Given the description of an element on the screen output the (x, y) to click on. 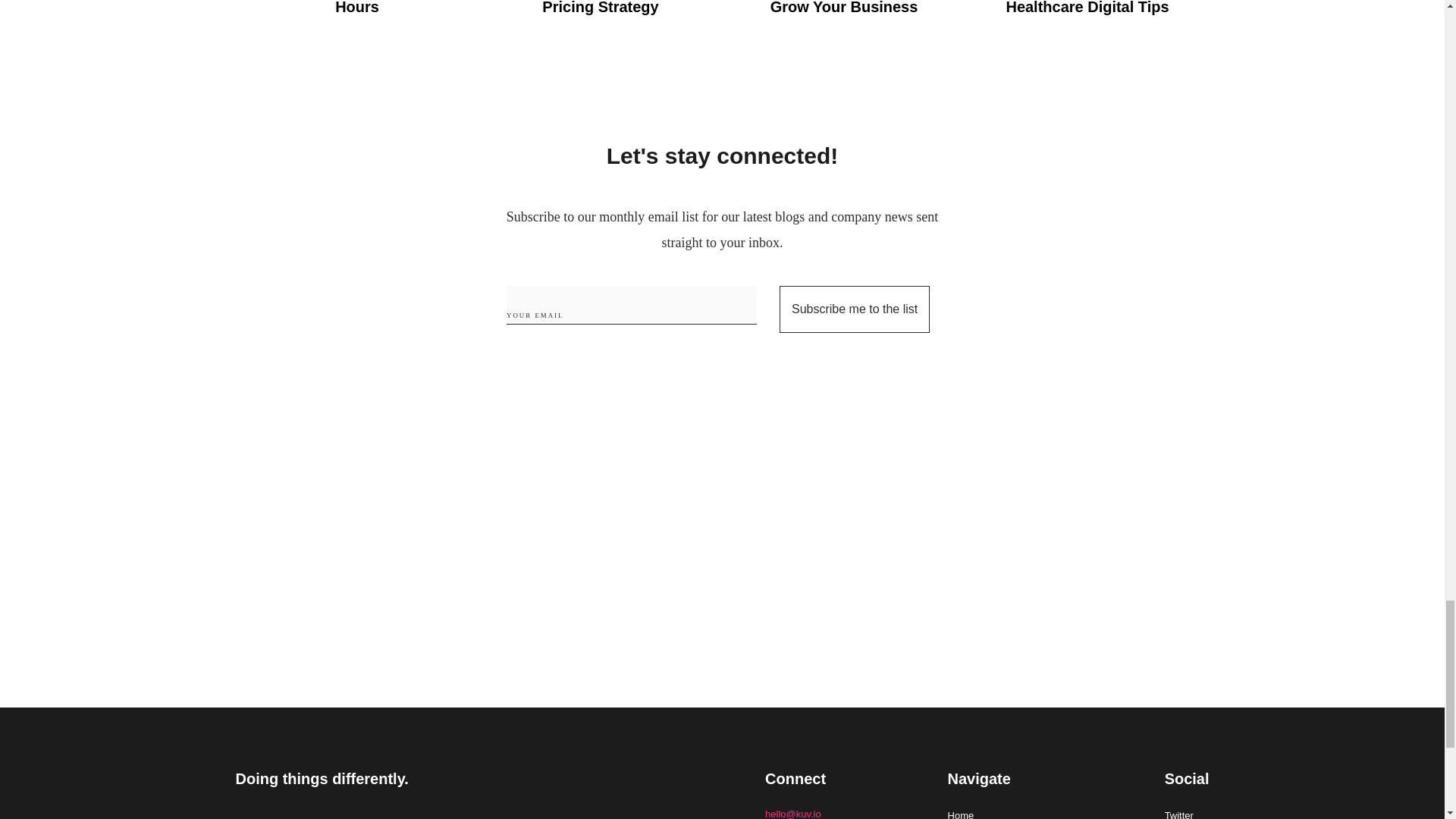
Benefits of Flexible Working Hours (358, 16)
Tips For Developing Your Pricing Strategy (599, 16)
Subscribe me to the list (854, 308)
Healthcare Digital Tips (1087, 16)
Subscribe me to the list (854, 308)
Using Webinars to Market and Grow Your Business (844, 16)
